Given the description of an element on the screen output the (x, y) to click on. 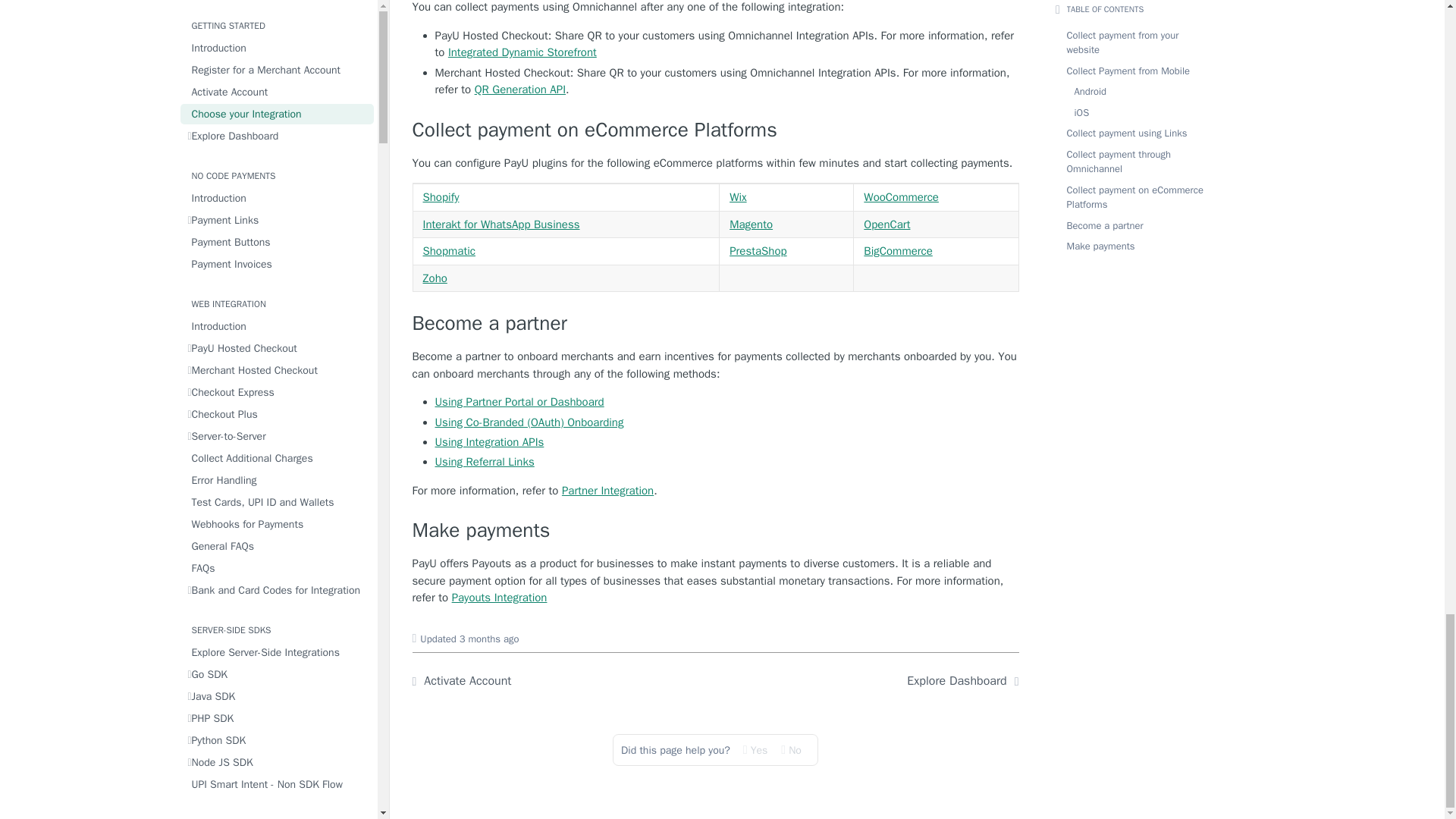
Become a partner (715, 324)
Collect payment on eCommerce Platforms (715, 130)
Make payments (715, 530)
